Given the description of an element on the screen output the (x, y) to click on. 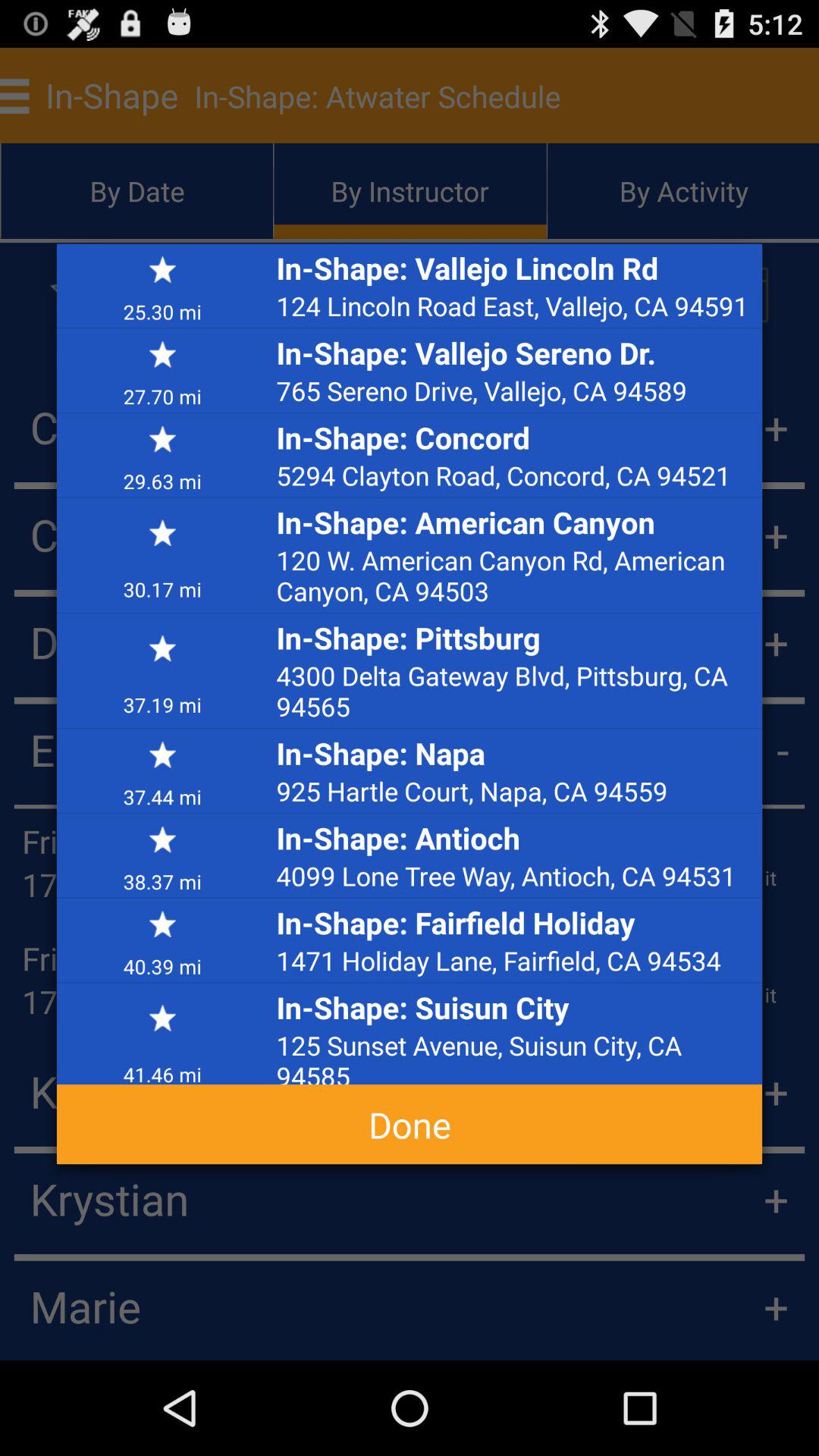
click icon below in-shape: concord (515, 475)
